Given the description of an element on the screen output the (x, y) to click on. 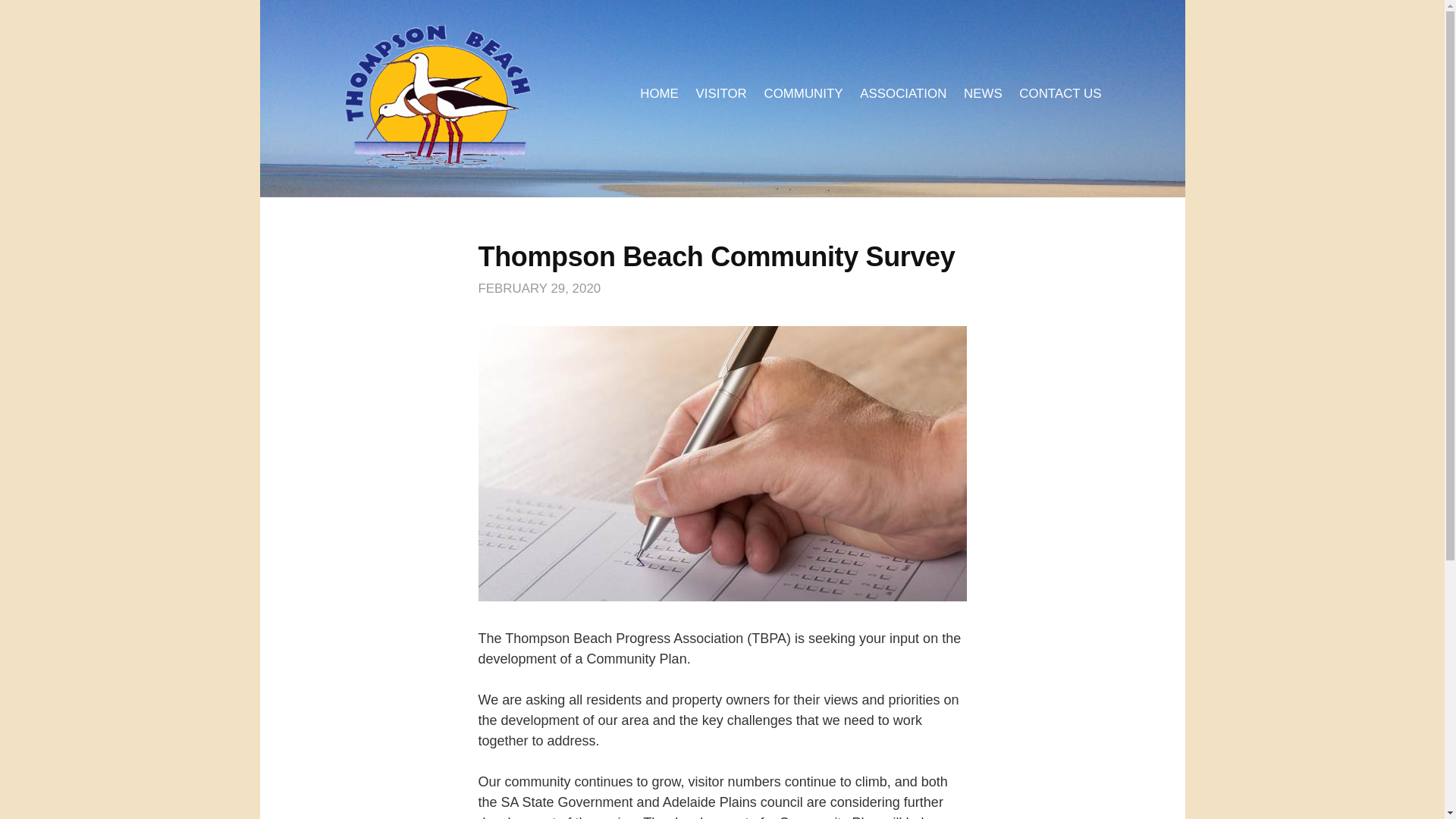
COMMUNITY (802, 93)
CONTACT US (1059, 93)
HOME (659, 93)
FEBRUARY 29, 2020 (538, 288)
ASSOCIATION (903, 93)
NEWS (983, 93)
VISITOR (720, 93)
